Given the description of an element on the screen output the (x, y) to click on. 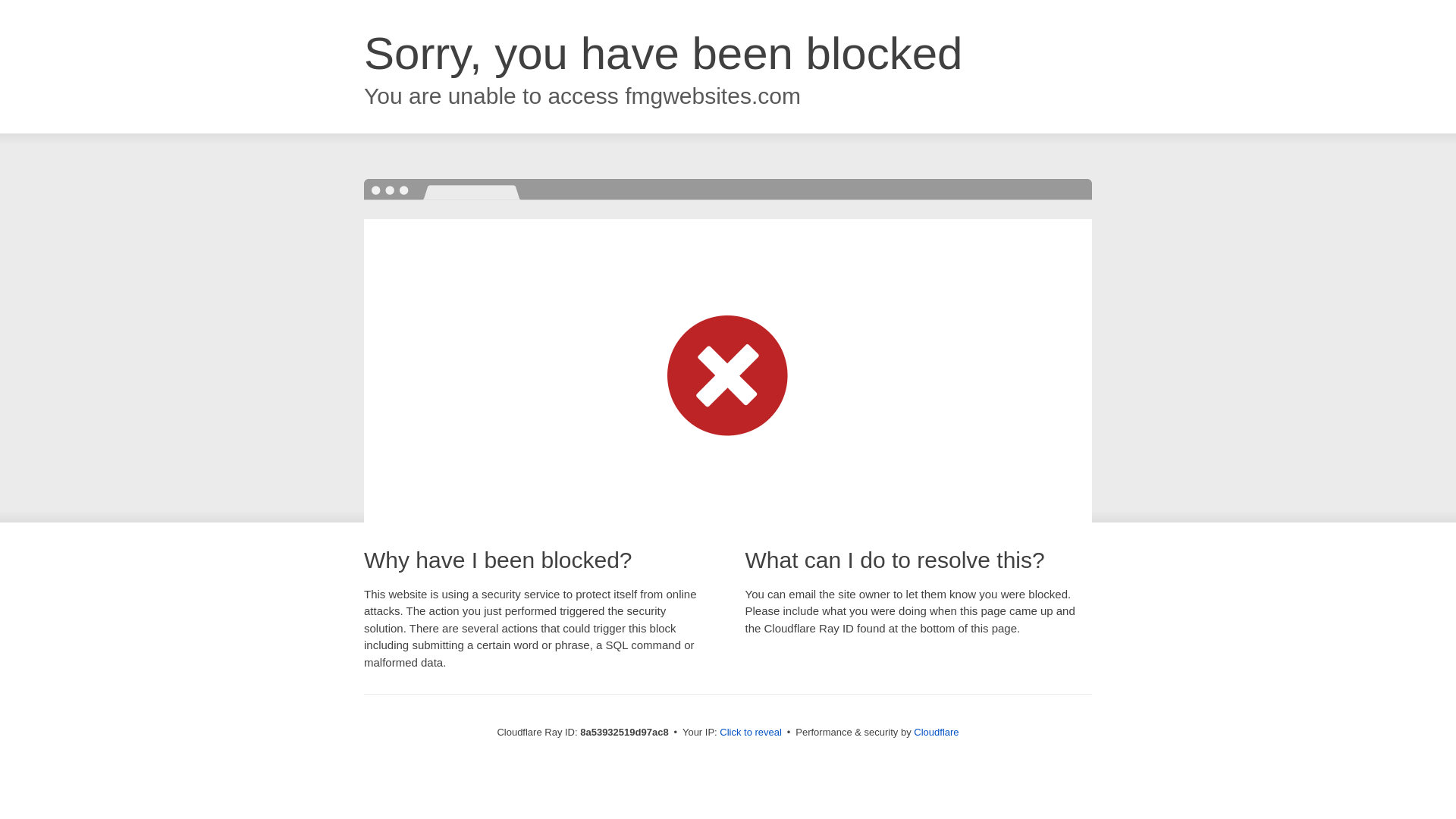
Click to reveal (750, 732)
Cloudflare (936, 731)
